Given the description of an element on the screen output the (x, y) to click on. 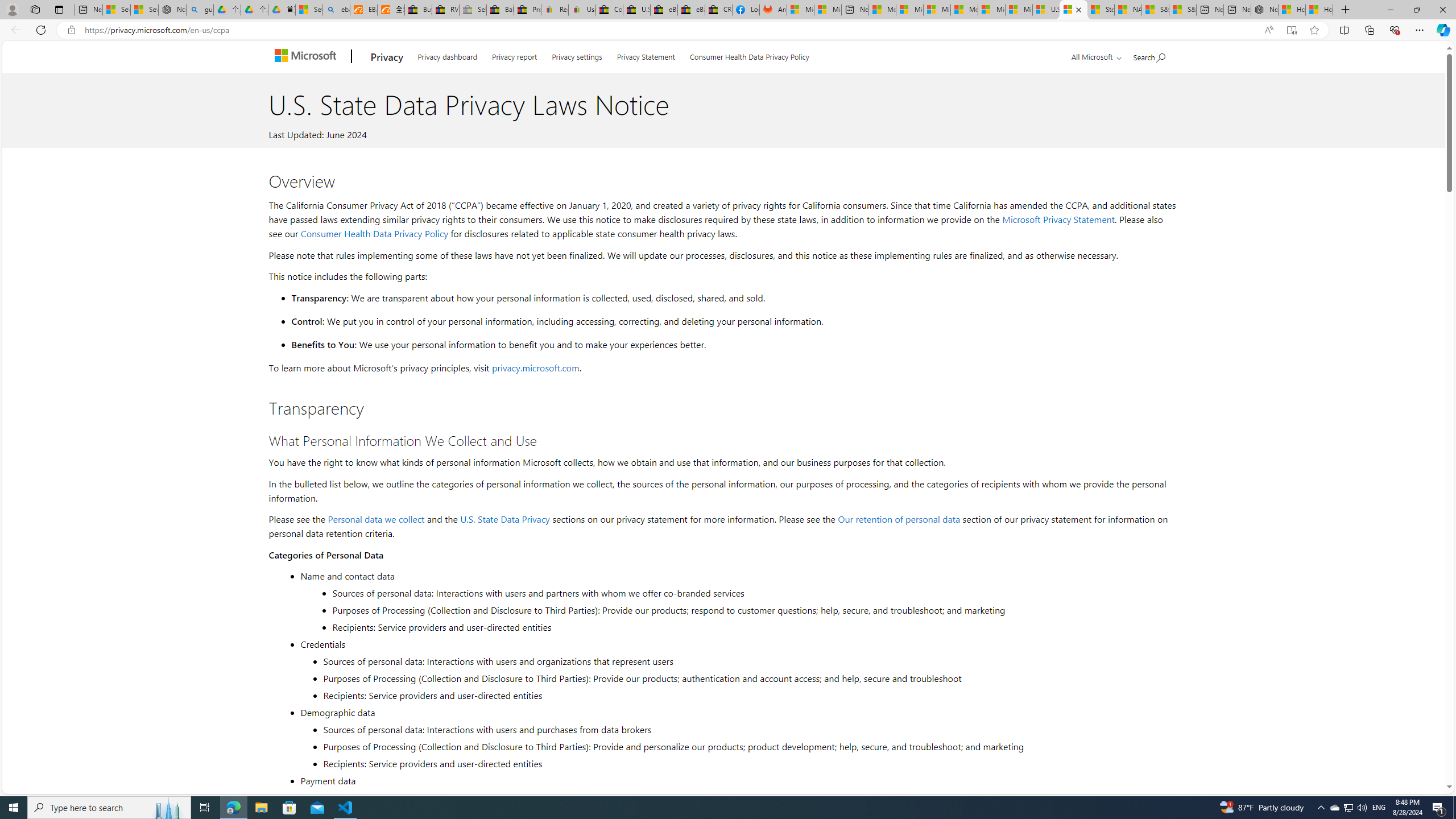
Search Microsoft.com (1149, 54)
App bar (728, 29)
Personal data we collect (376, 518)
Privacy report (514, 54)
Back (13, 29)
Privacy report (514, 54)
S&P 500, Nasdaq end lower, weighed by Nvidia dip | Watch (1182, 9)
guge yunpan - Search (200, 9)
